Given the description of an element on the screen output the (x, y) to click on. 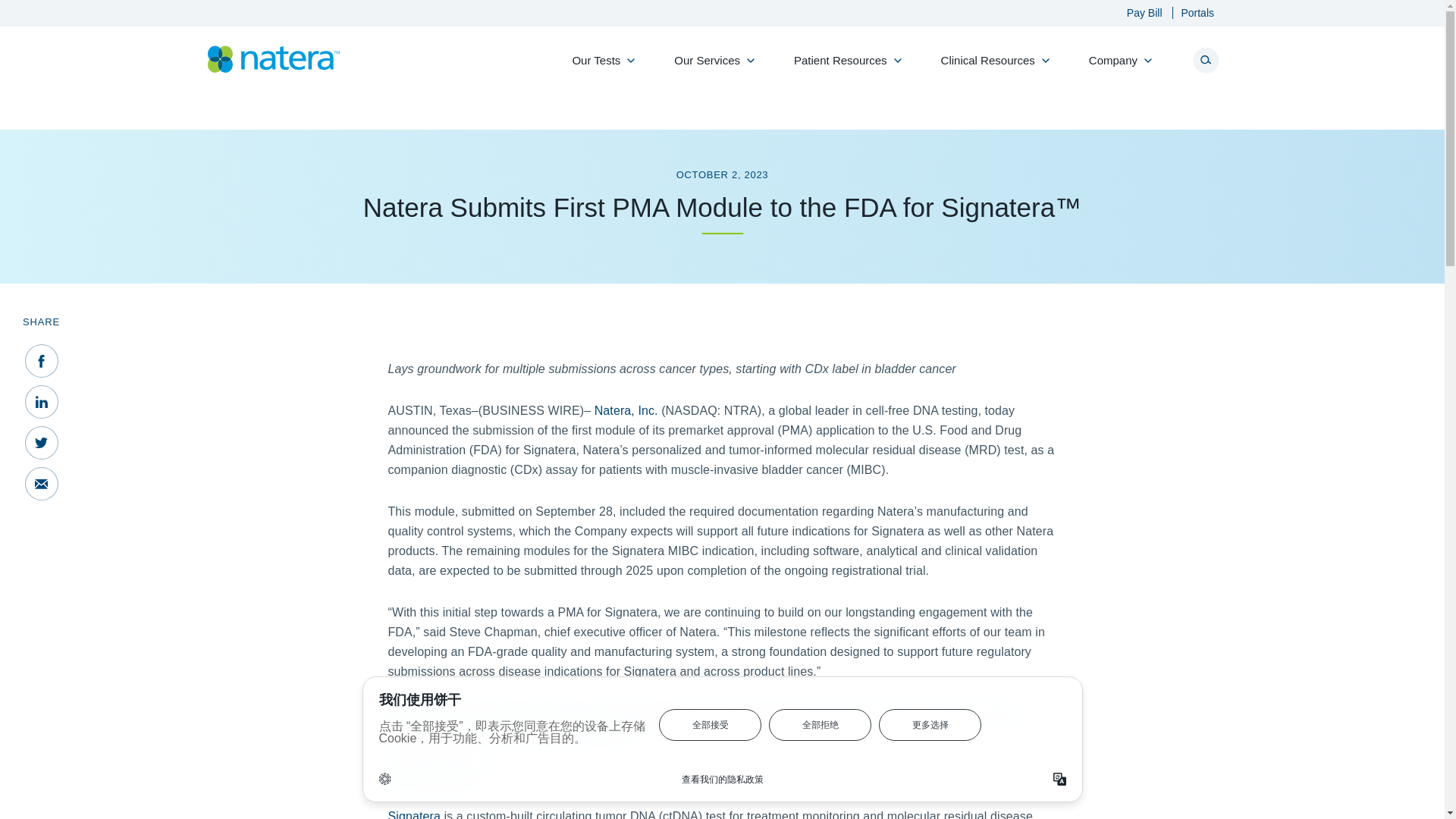
Twitter (41, 442)
LinkedIn (41, 401)
Pay Bill (1136, 12)
Portals (1189, 12)
Facebook (41, 360)
Our Tests (598, 68)
Email (41, 483)
